Given the description of an element on the screen output the (x, y) to click on. 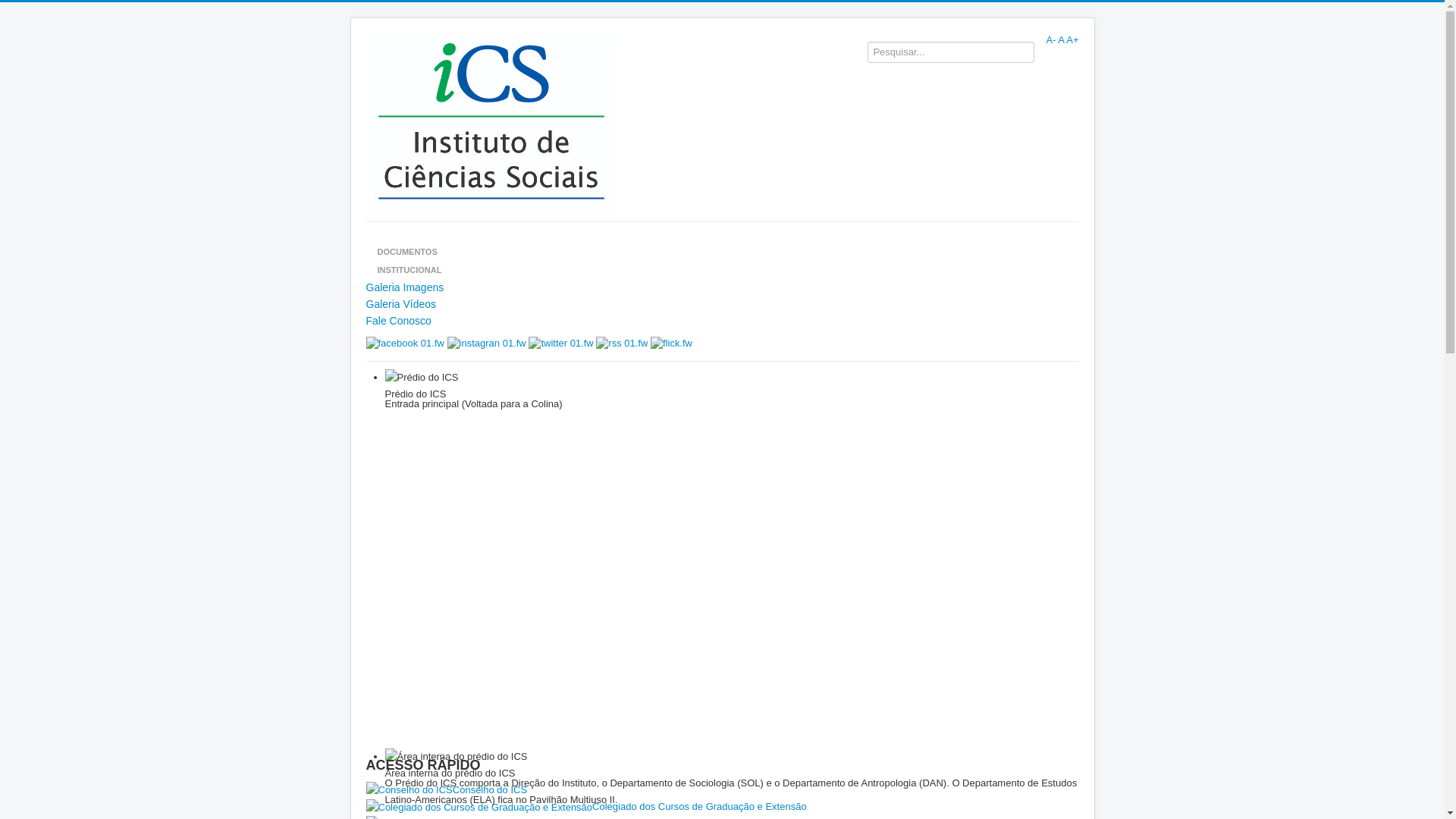
A Element type: text (1060, 39)
Fale Conosco Element type: text (721, 320)
Conselho do ICS Element type: text (721, 790)
A+ Element type: text (1072, 39)
A- Element type: text (1050, 39)
Galeria Imagens Element type: text (721, 287)
